Given the description of an element on the screen output the (x, y) to click on. 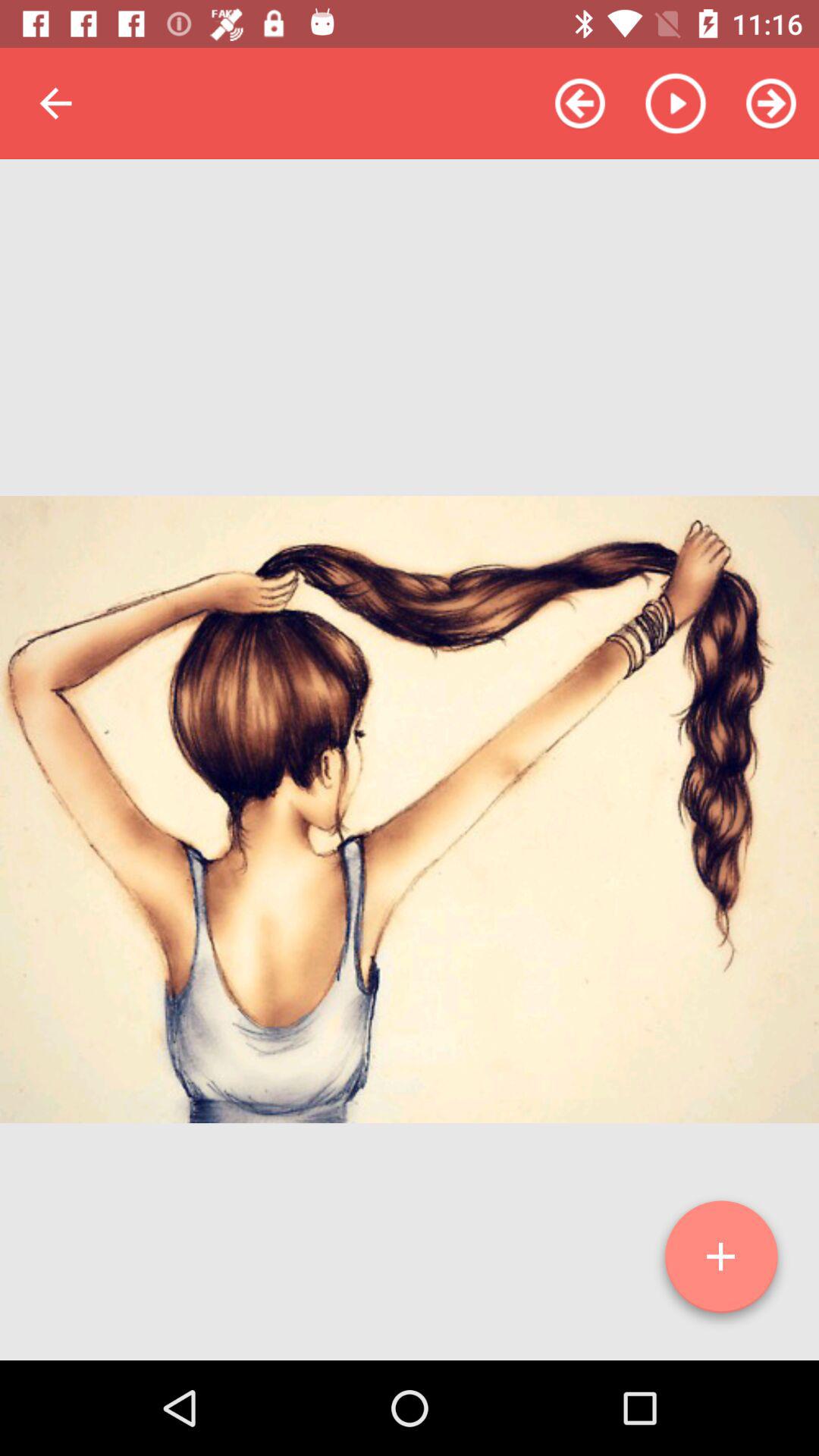
menu (721, 1262)
